Given the description of an element on the screen output the (x, y) to click on. 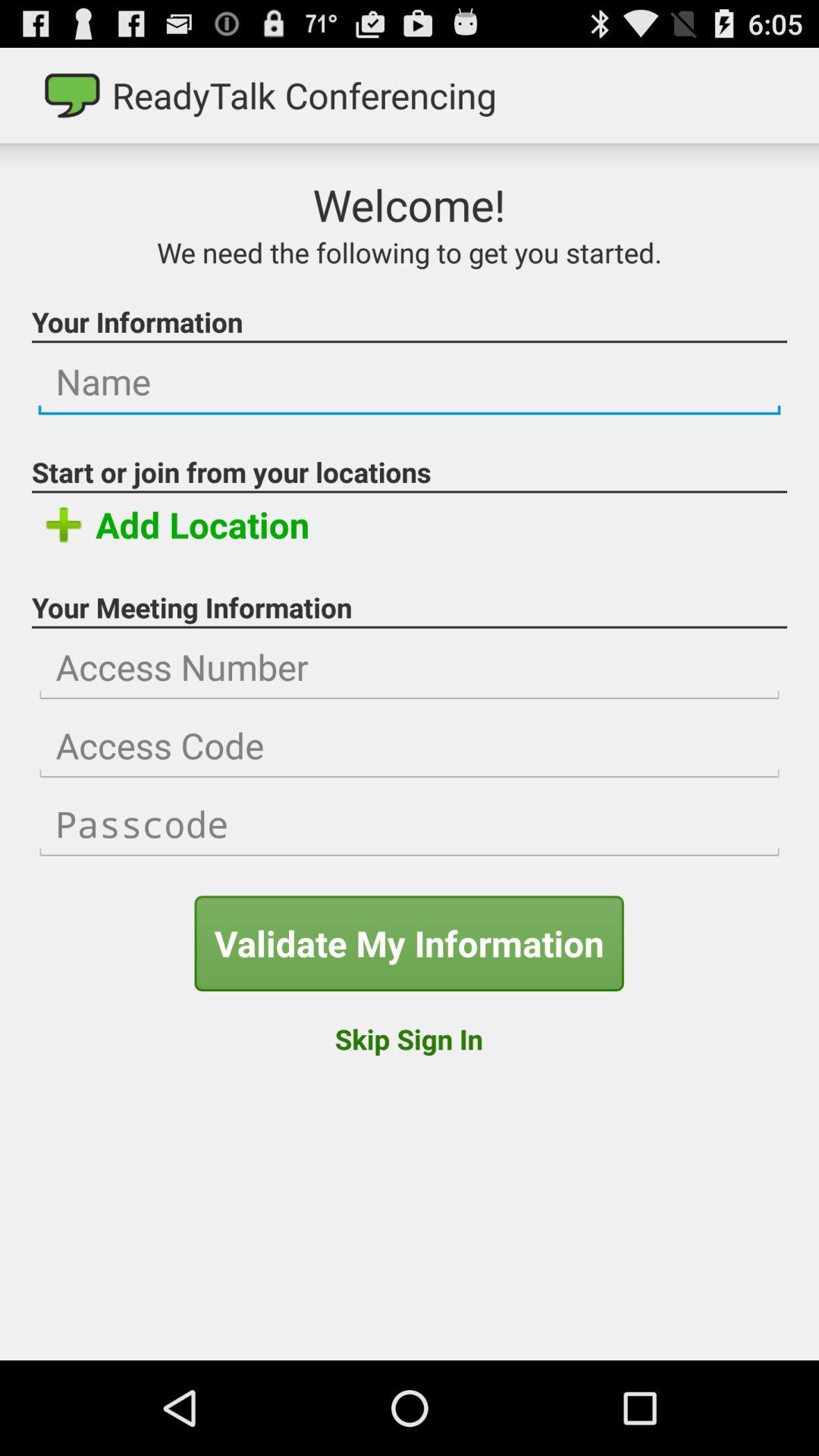
select the item at the bottom (408, 1038)
